Given the description of an element on the screen output the (x, y) to click on. 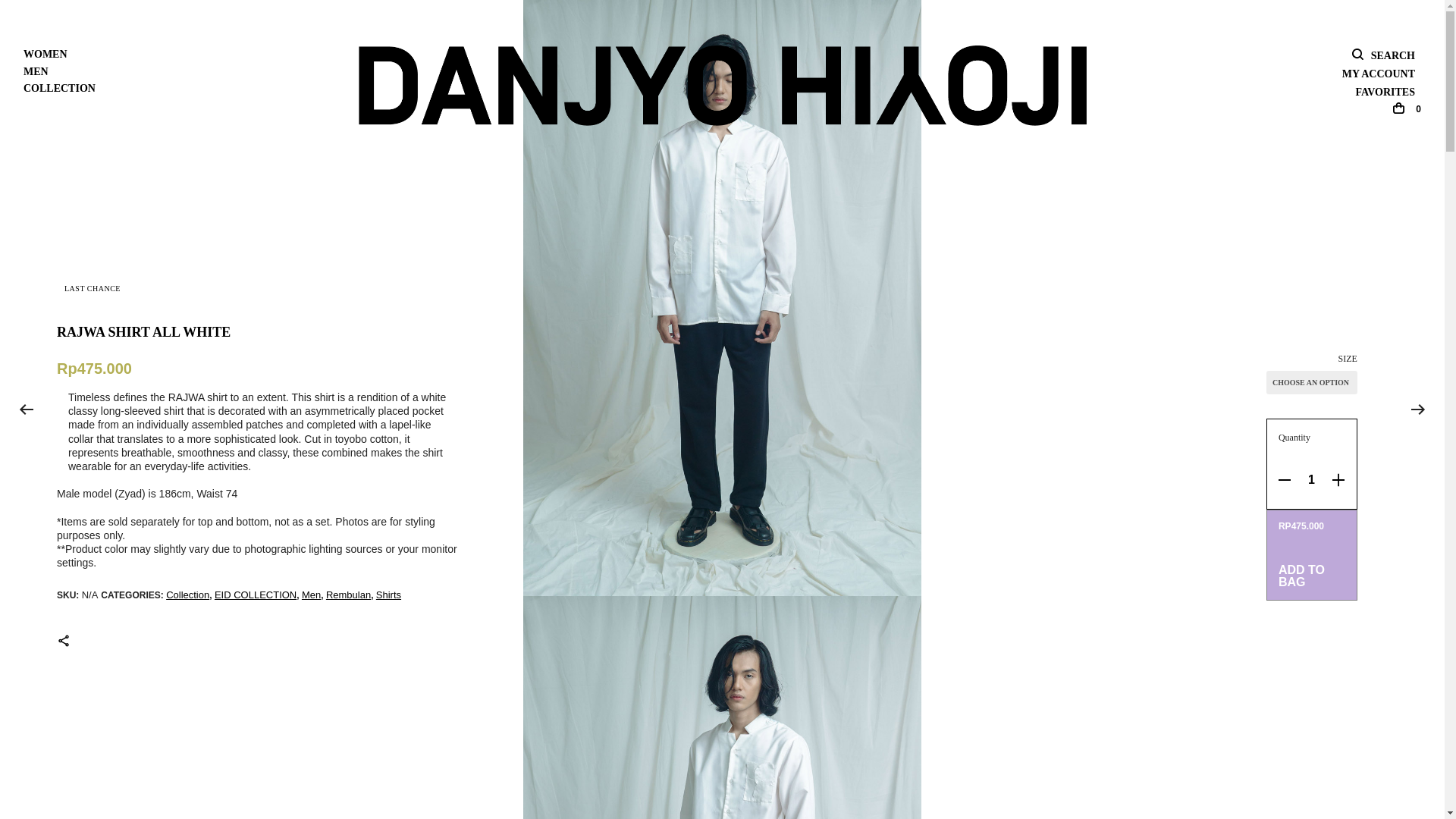
0 (1406, 110)
EID COLLECTION (255, 594)
SEARCH (1383, 55)
MY ACCOUNT (1377, 74)
Collection (187, 594)
COLLECTION (59, 88)
FAVORITES (1384, 92)
1 (1311, 479)
Official Store of Danjyo Hiyoji (722, 85)
MEN (36, 71)
Men (310, 594)
WOMEN (45, 54)
Rembulan (348, 594)
Qty (1311, 479)
